Given the description of an element on the screen output the (x, y) to click on. 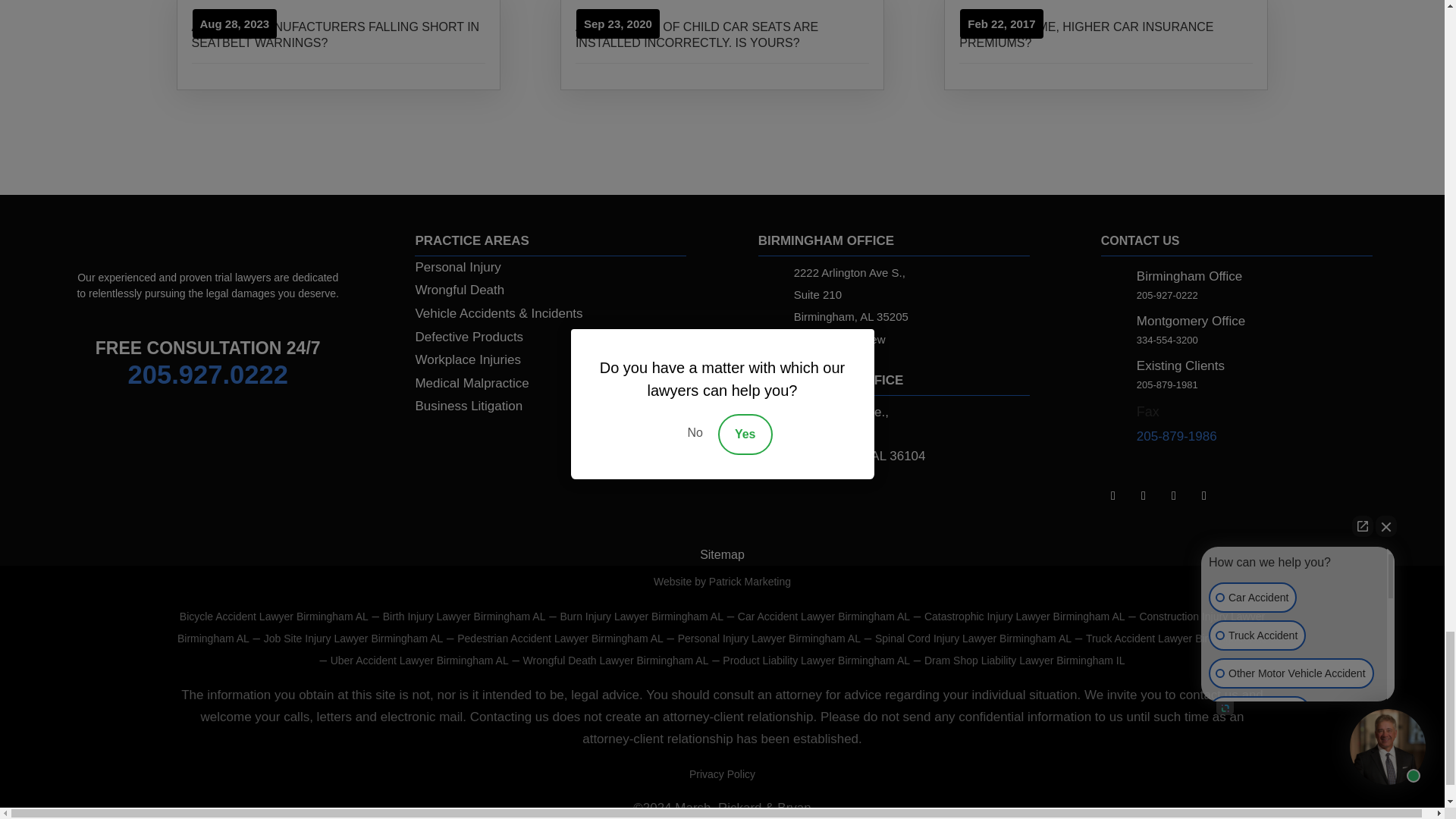
Follow on X (1173, 495)
Follow on LinkedIn (1112, 495)
Follow on Facebook (1143, 495)
Follow on Youtube (1203, 495)
